Given the description of an element on the screen output the (x, y) to click on. 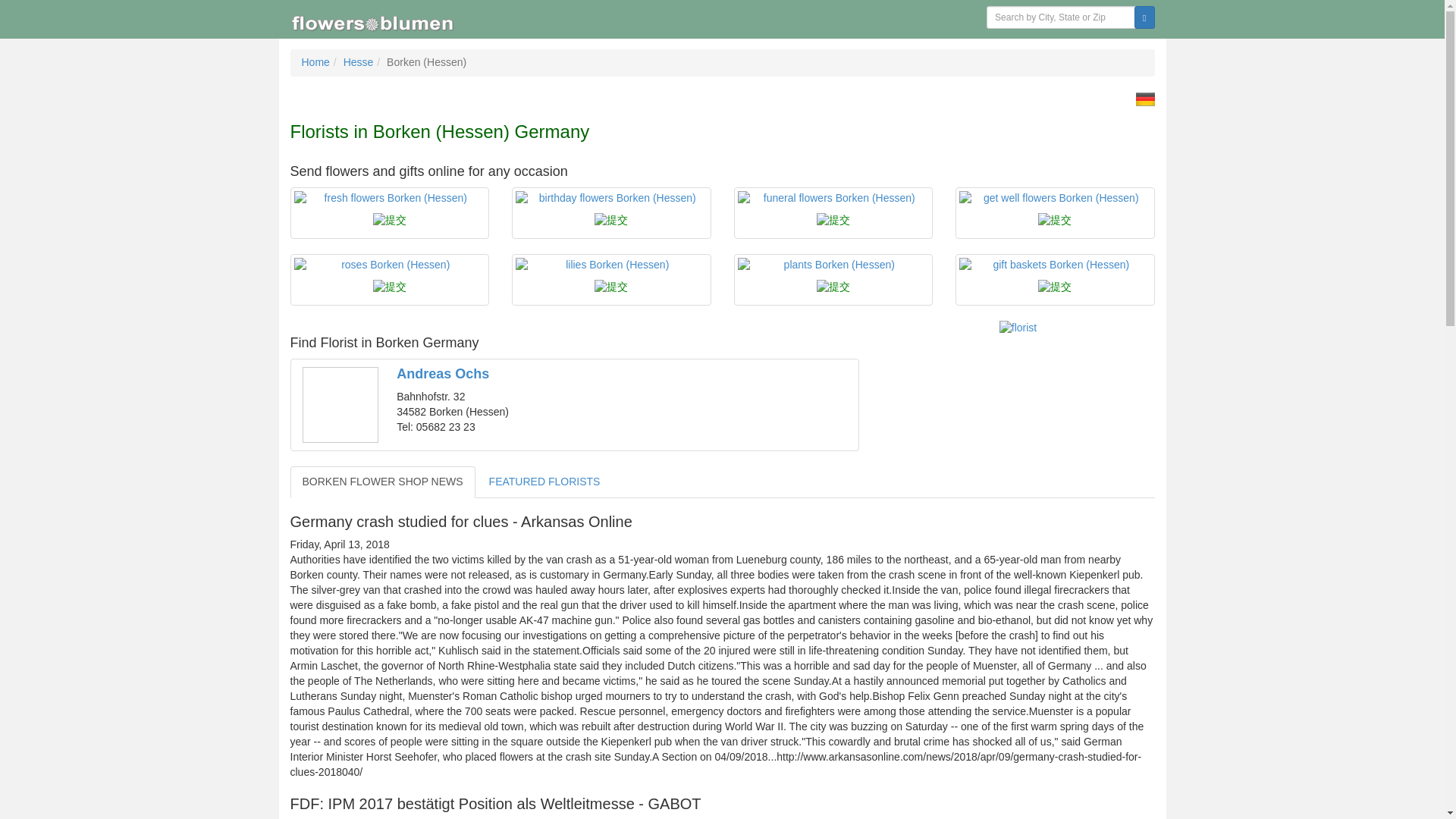
Hesse (358, 61)
FEATURED FLORISTS (544, 481)
Andreas Ochs (442, 373)
Home (315, 61)
BORKEN FLOWER SHOP NEWS (381, 481)
